Given the description of an element on the screen output the (x, y) to click on. 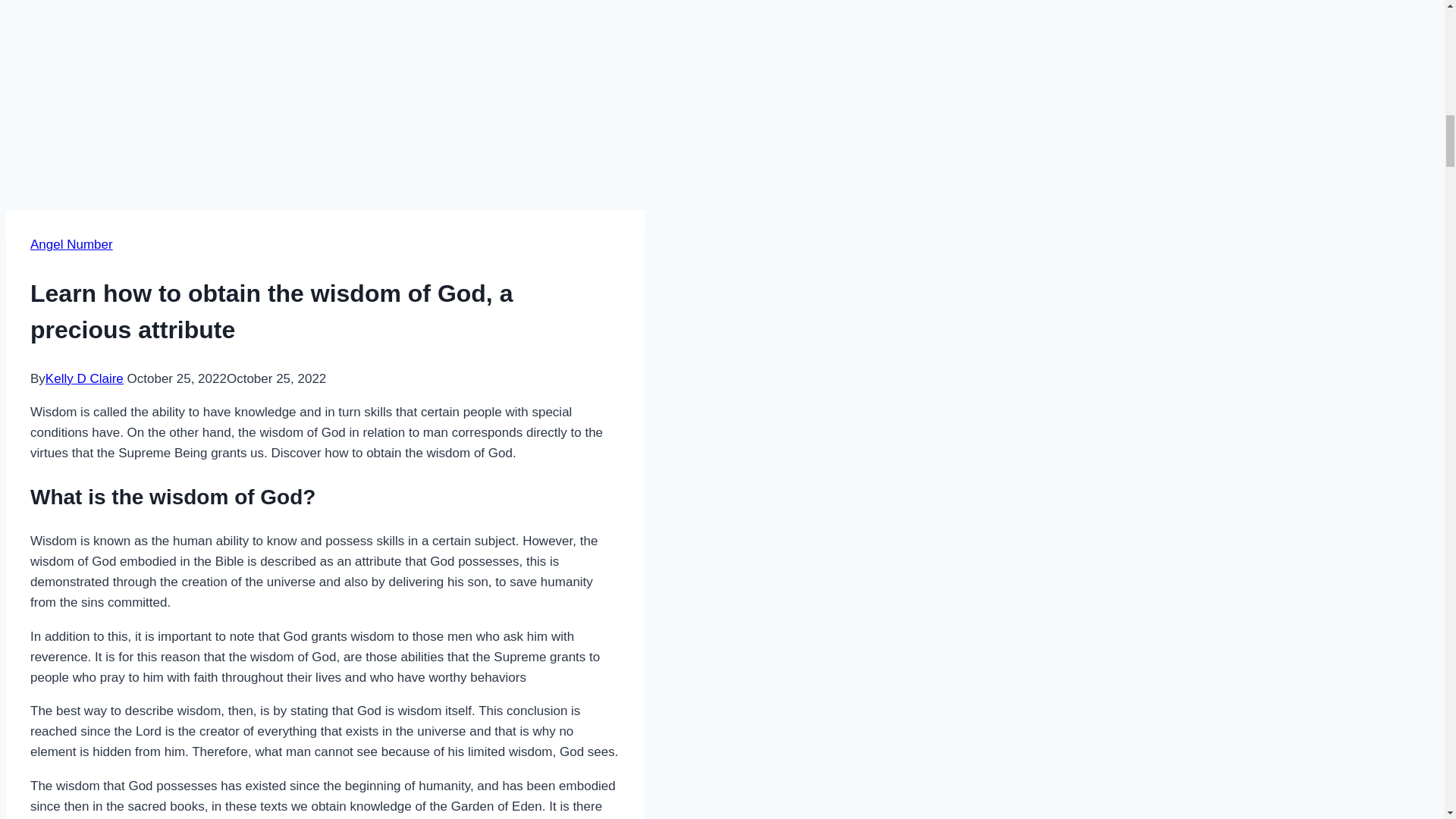
Angel Number (71, 244)
Kelly D Claire (84, 378)
